Given the description of an element on the screen output the (x, y) to click on. 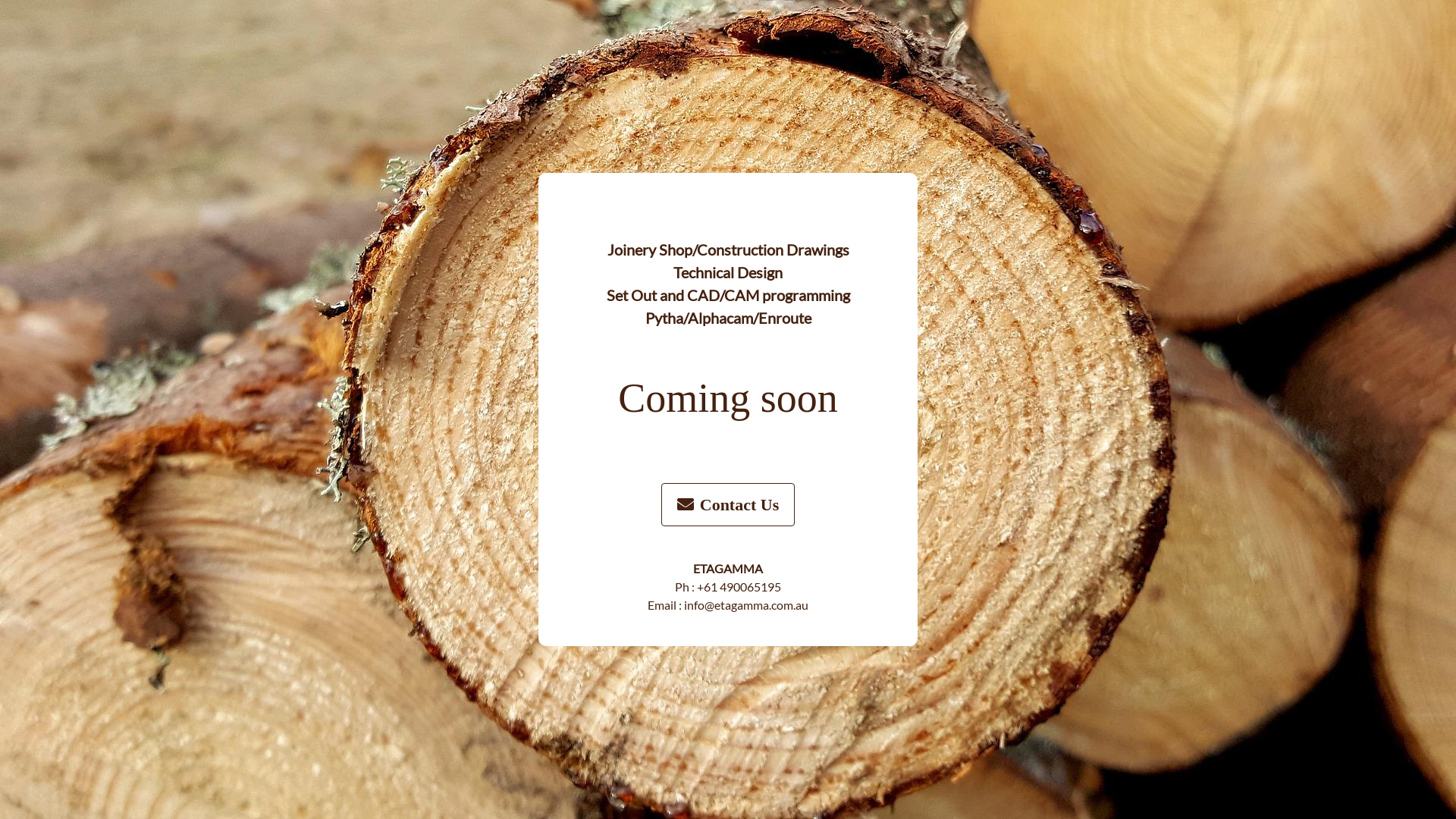
info@etagamma.com.au Element type: text (746, 604)
+61 490065195 Element type: text (738, 586)
Contact Us Element type: text (728, 504)
